Given the description of an element on the screen output the (x, y) to click on. 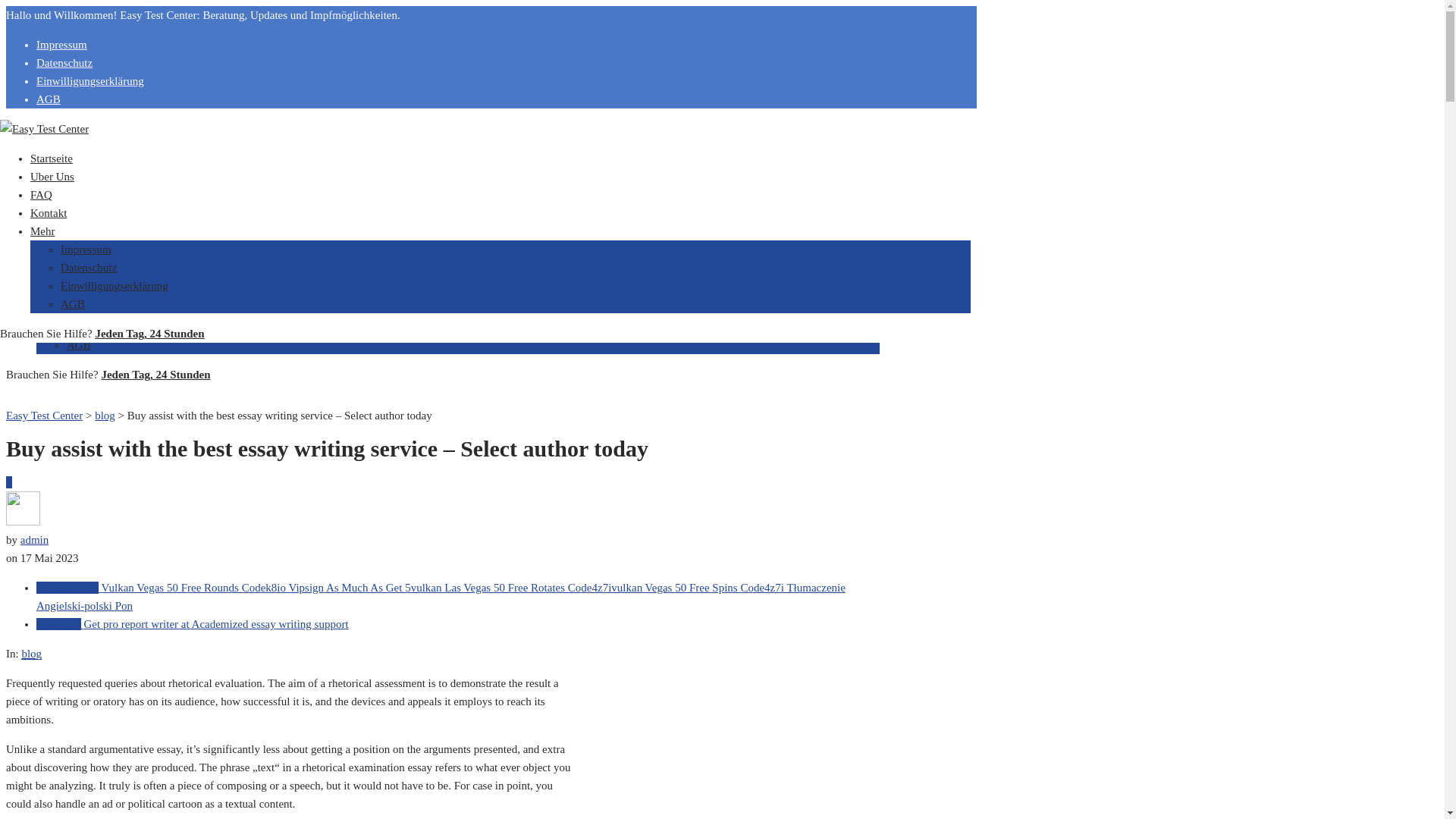
Jeden Tag, 24 Stunden (154, 374)
AGB (78, 345)
Uber Uns (58, 217)
Uber Uns (52, 176)
Impressum (61, 44)
Impressum (91, 290)
AGB (48, 99)
Jeden Tag, 24 Stunden (148, 333)
AGB (72, 304)
Gehe zu Easy Test Center. (43, 415)
Easy Test Center (43, 415)
Datenschutz (88, 267)
Startseite (51, 158)
Go to the blog Kategorie archives. (104, 415)
Datenschutz (94, 308)
